Given the description of an element on the screen output the (x, y) to click on. 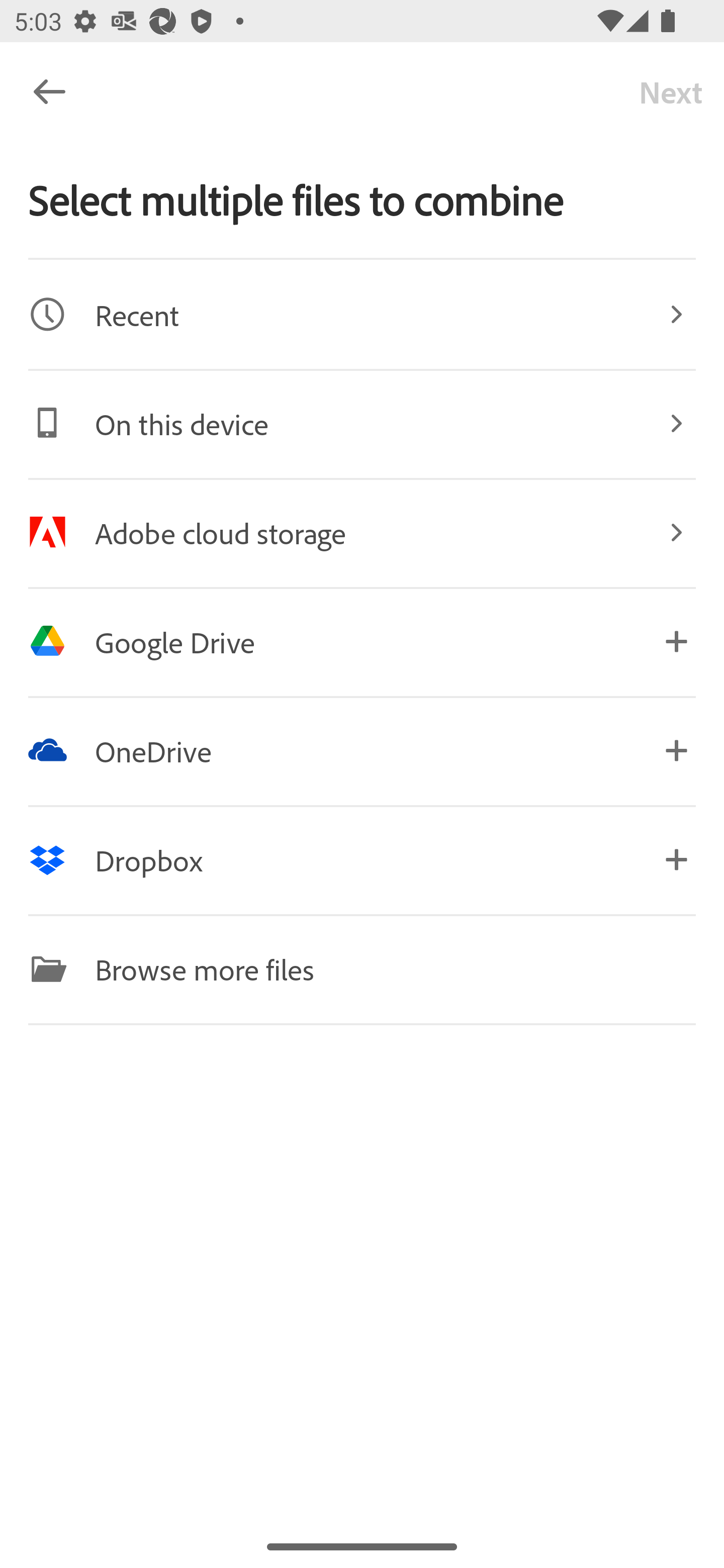
Navigate up (49, 91)
Image Recent (362, 314)
Image On this device (362, 423)
Image Adobe cloud storage (362, 532)
Image Google Drive (362, 641)
Image OneDrive (362, 750)
Image Dropbox (362, 859)
Image Browse more files (362, 968)
